Given the description of an element on the screen output the (x, y) to click on. 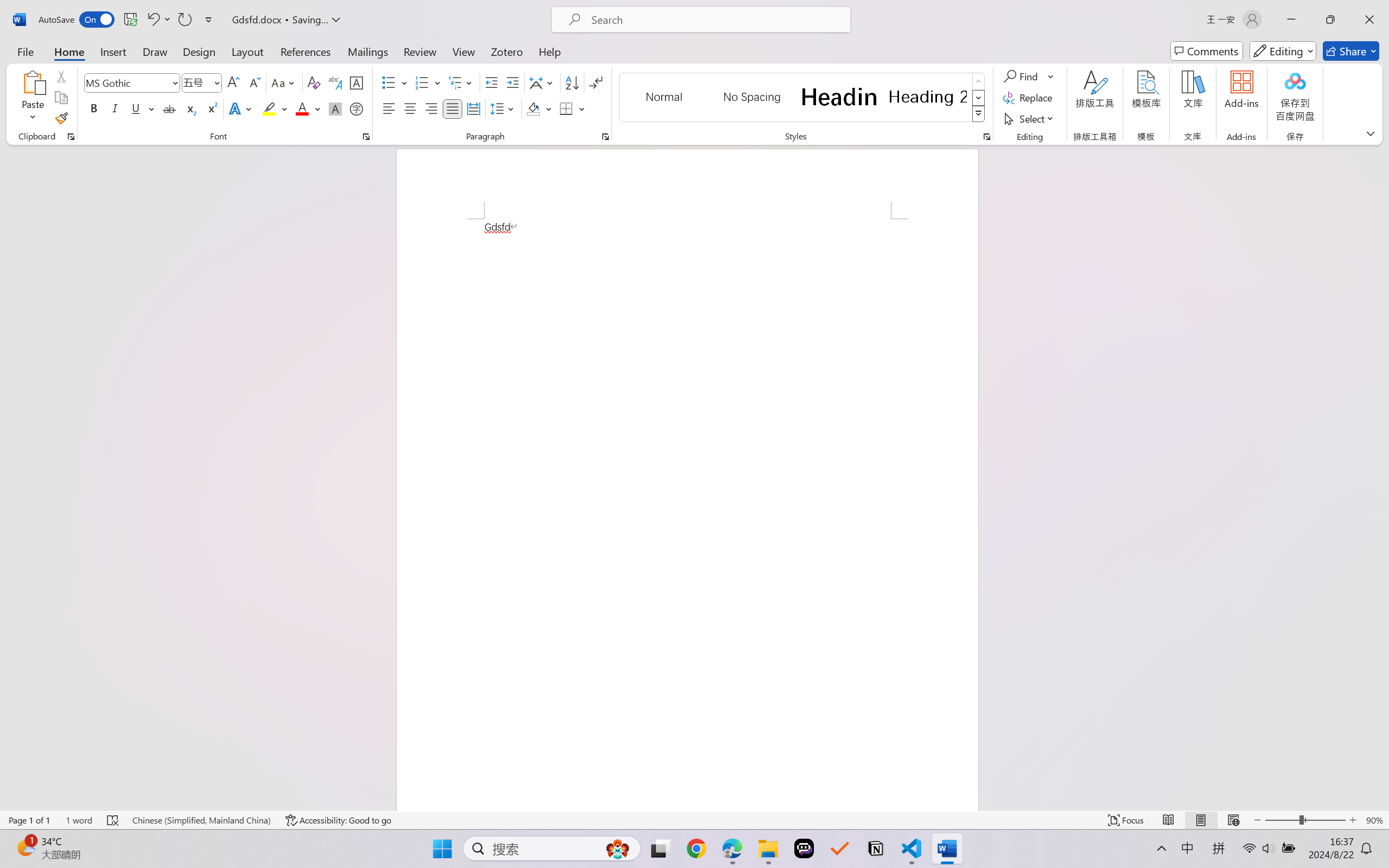
Text Effects and Typography (241, 108)
Class: MsoCommandBar (694, 819)
Show/Hide Editing Marks (595, 82)
Decrease Indent (491, 82)
Center (409, 108)
Page 1 content (687, 514)
Undo Font Formatting (152, 19)
Shrink Font (253, 82)
